Given the description of an element on the screen output the (x, y) to click on. 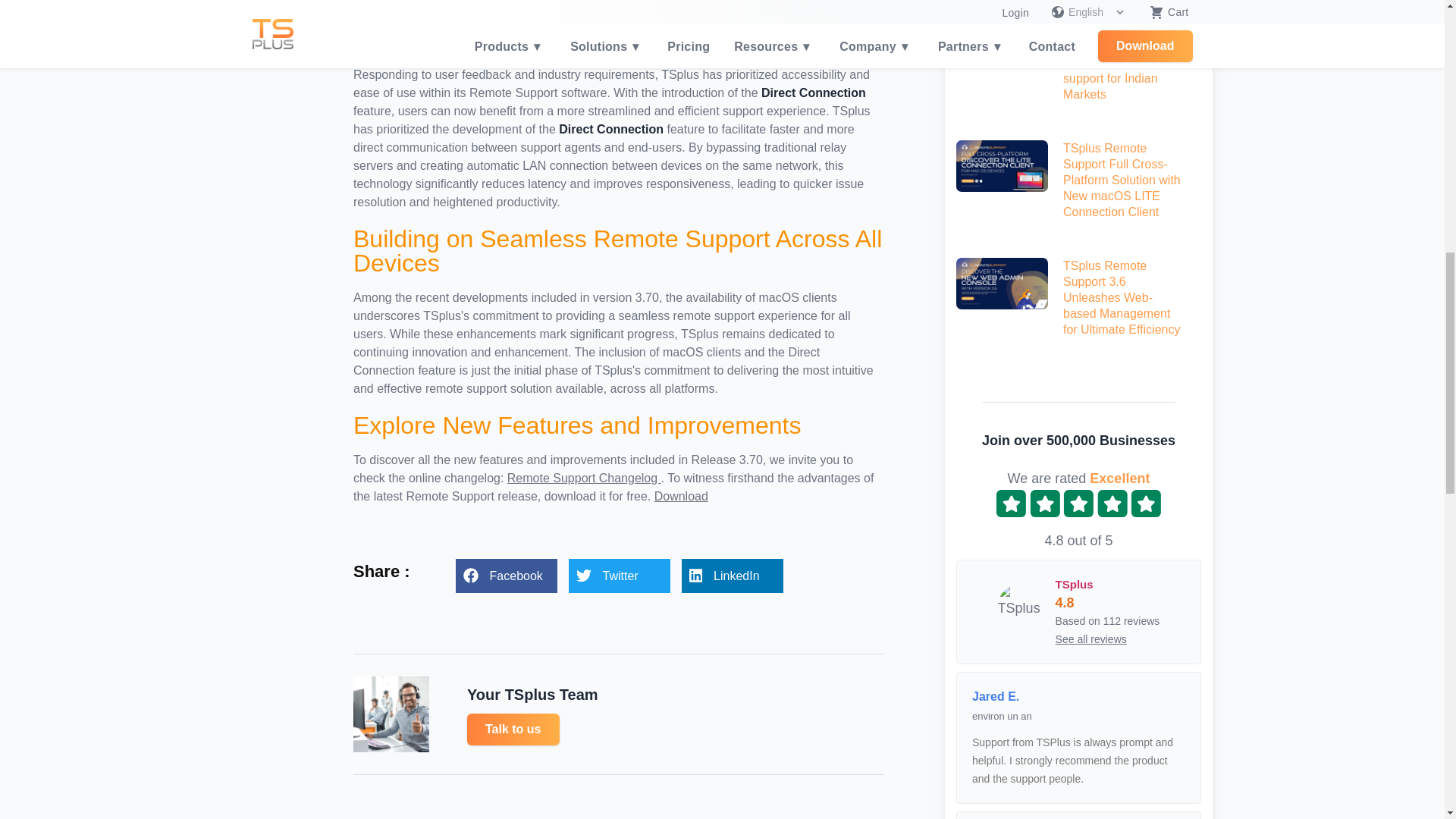
TSplus (1019, 605)
